Given the description of an element on the screen output the (x, y) to click on. 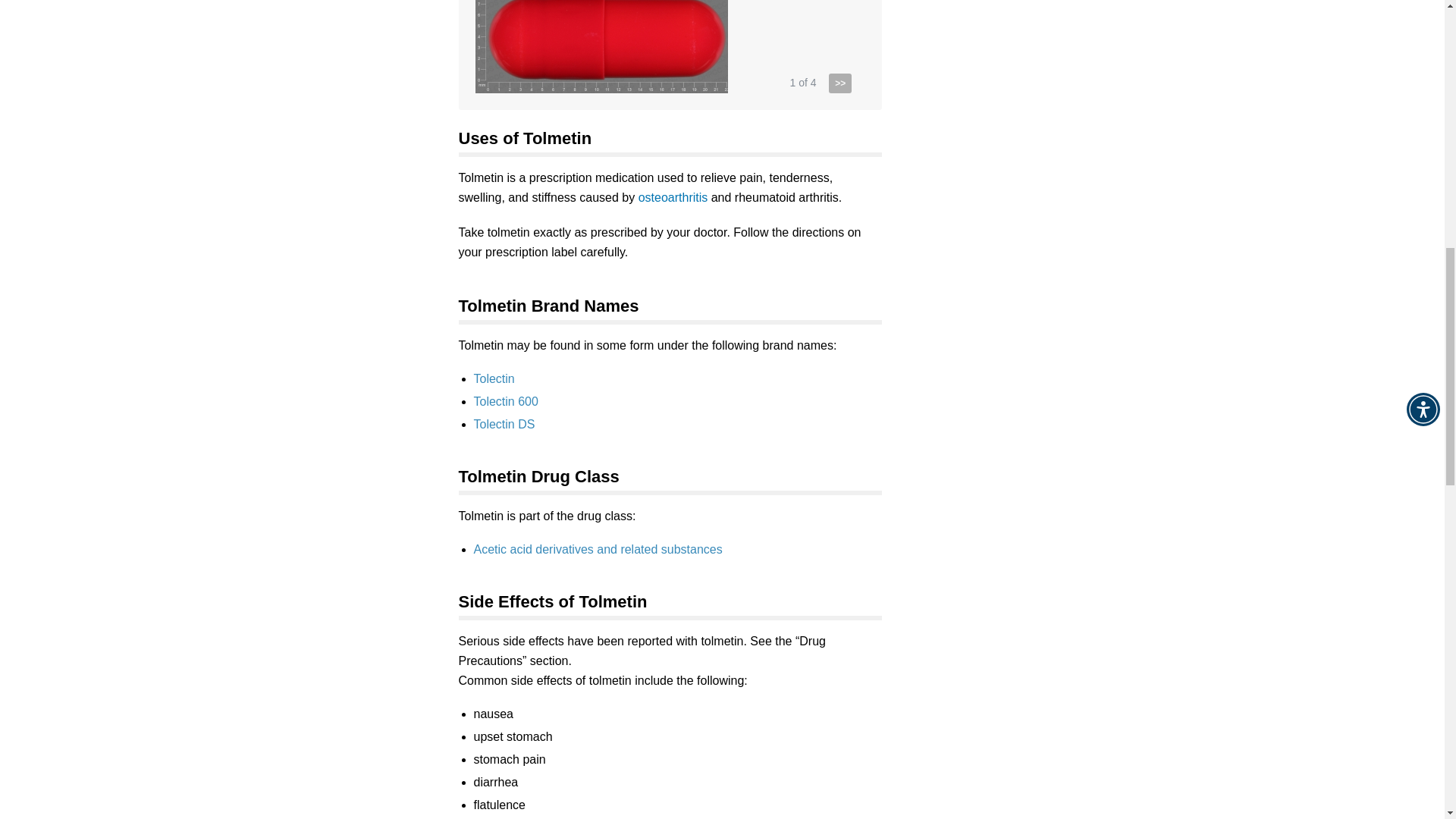
Tolectin 600 (505, 400)
osteoarthritis (673, 196)
Tolectin (493, 378)
